Given the description of an element on the screen output the (x, y) to click on. 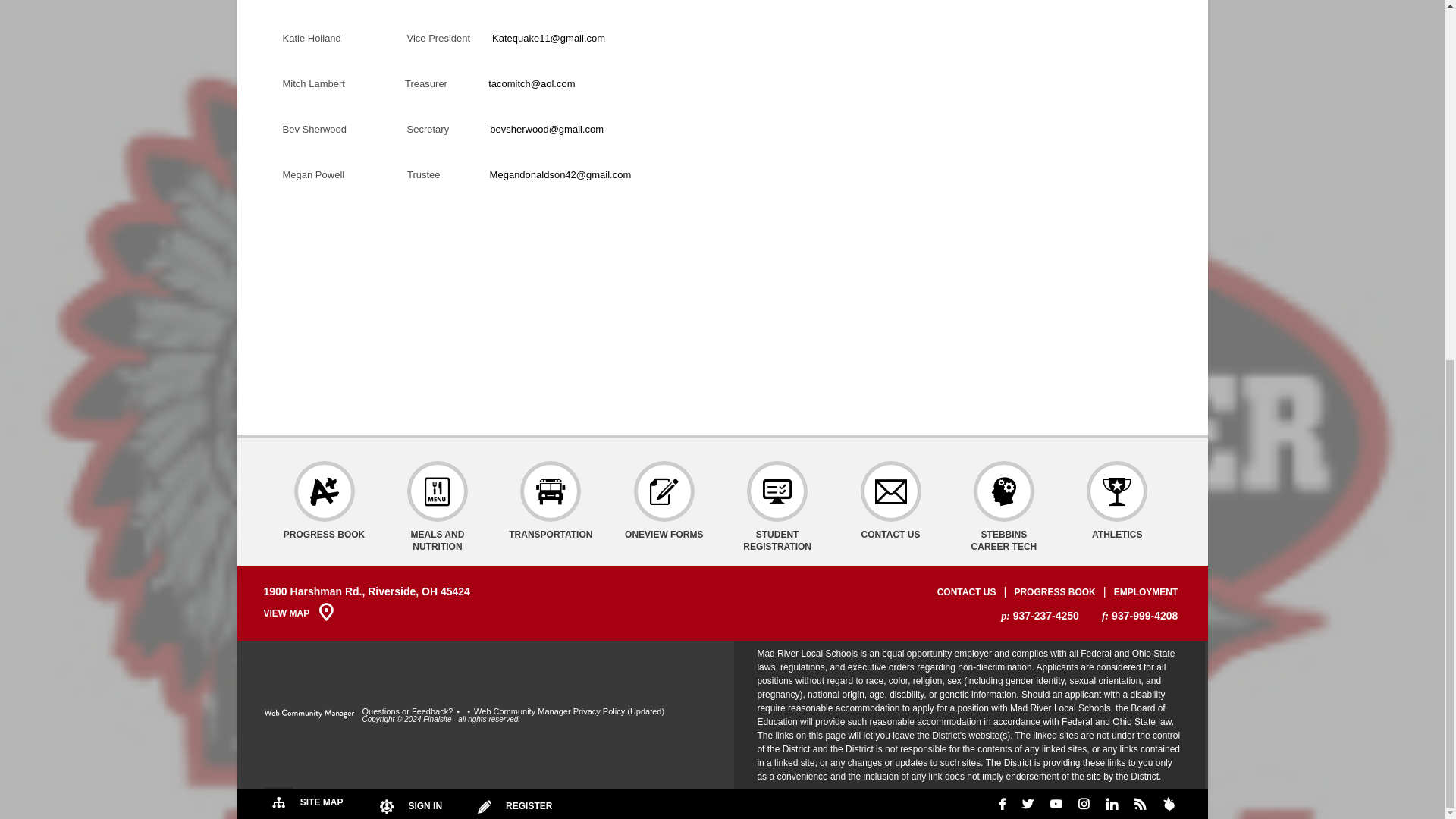
Finalsite - all rights reserved (309, 713)
